Given the description of an element on the screen output the (x, y) to click on. 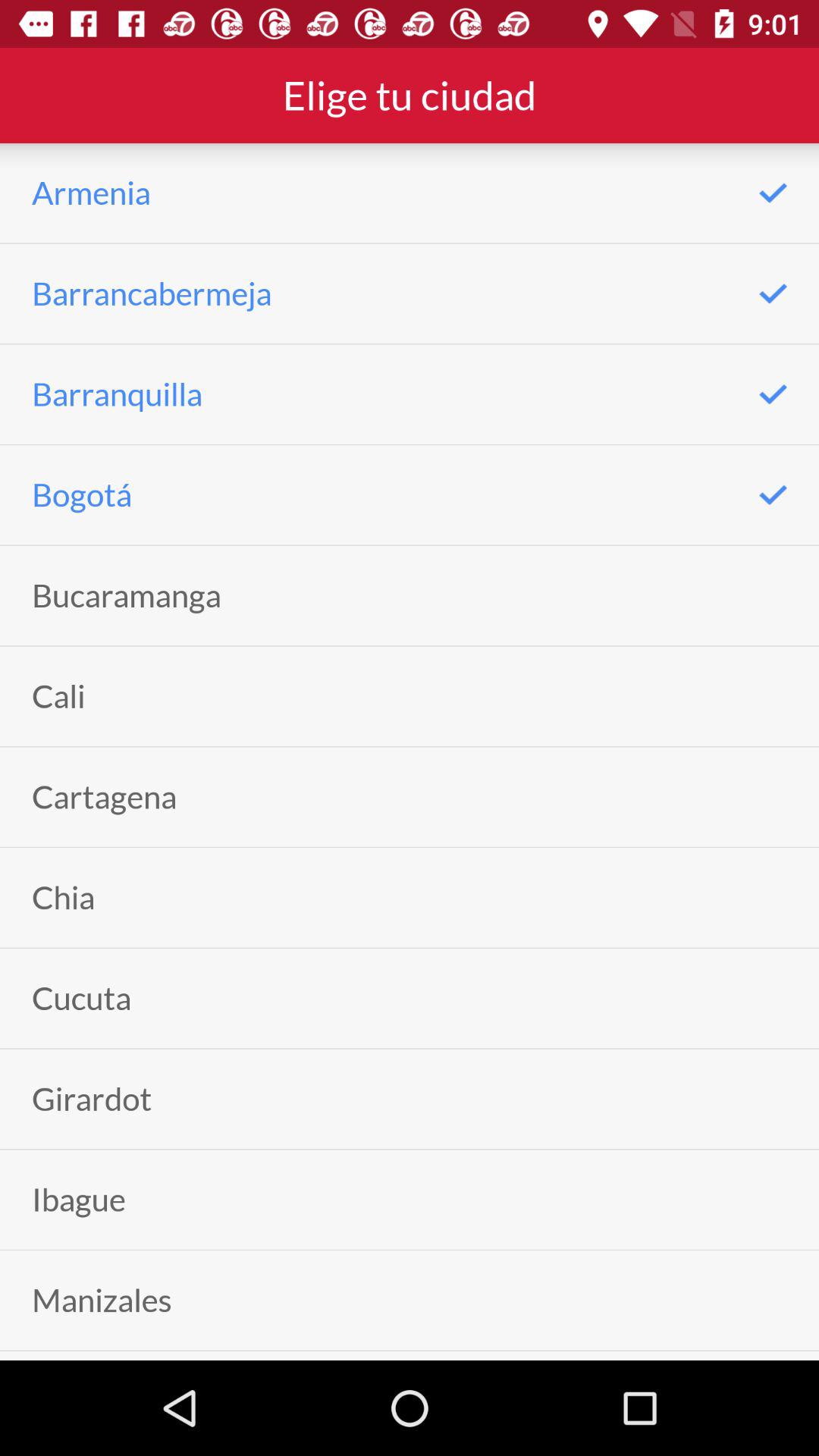
launch the item above chia icon (103, 797)
